Given the description of an element on the screen output the (x, y) to click on. 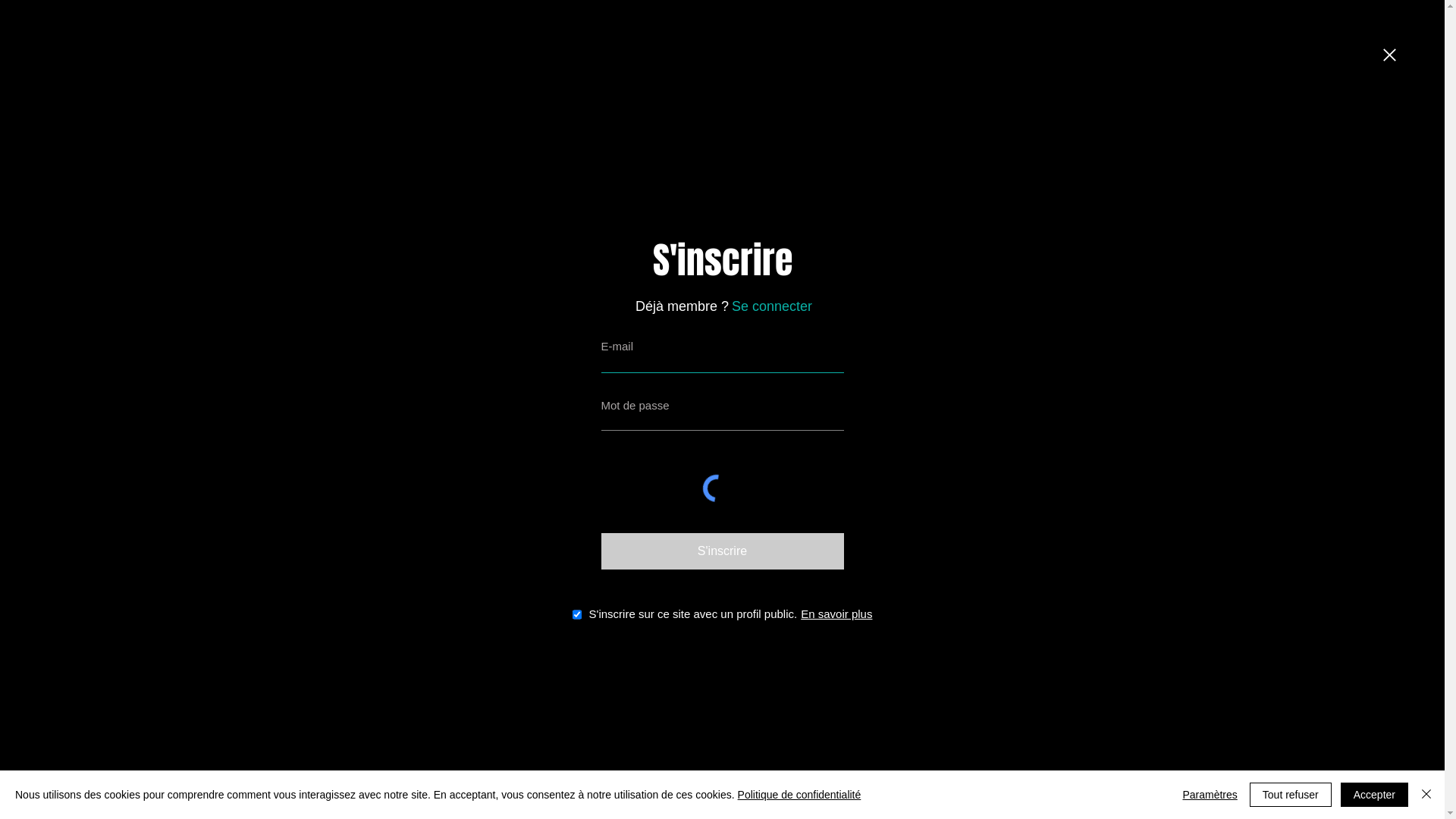
S'inscrire Element type: text (721, 551)
Accepter Element type: text (1374, 794)
En savoir plus Element type: text (836, 613)
Se connecter Element type: text (771, 306)
Tout refuser Element type: text (1290, 794)
